Given the description of an element on the screen output the (x, y) to click on. 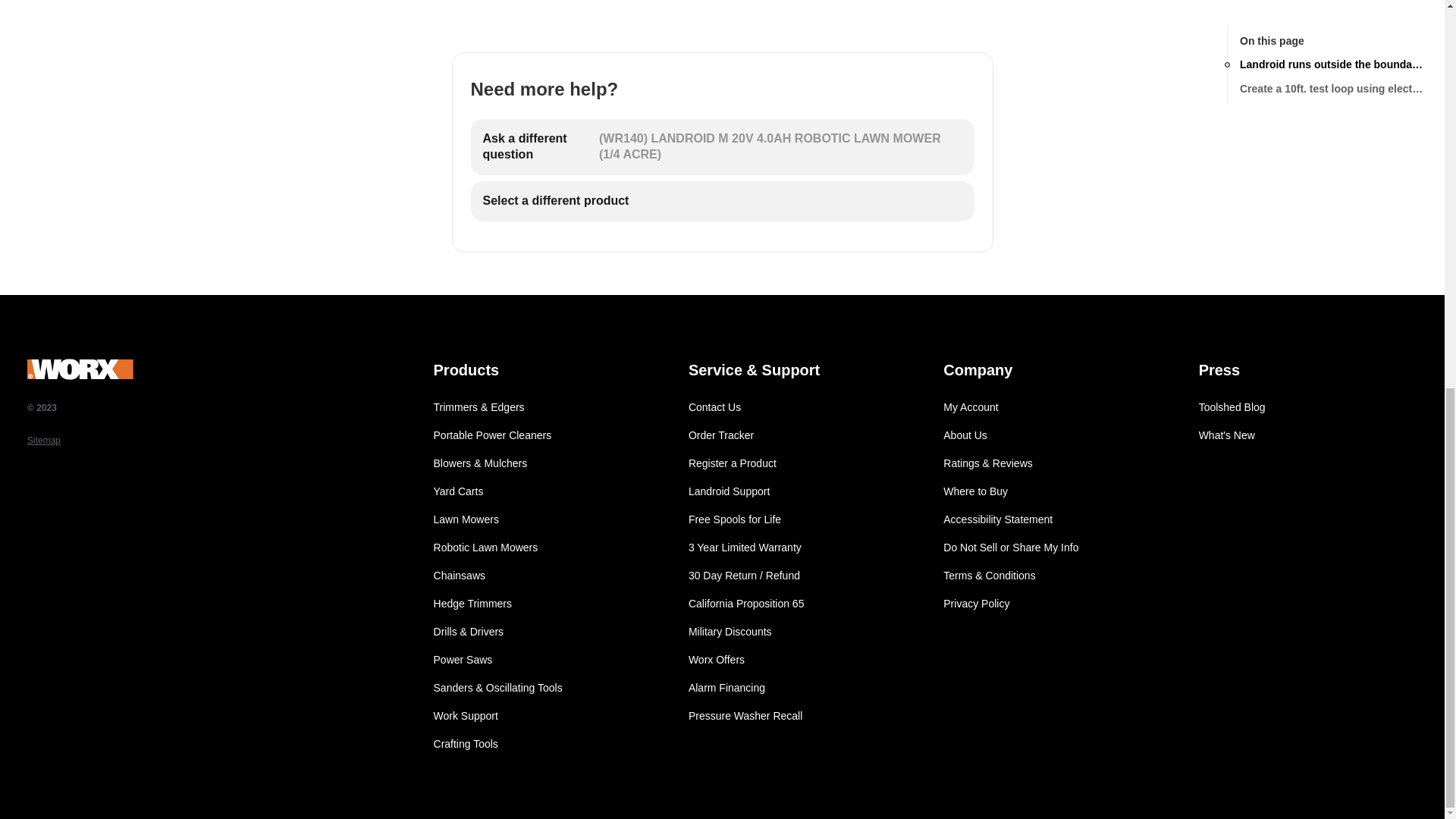
Chainsaws (543, 576)
Select a different product (722, 200)
Portable Power Cleaners (543, 435)
Lawn Mowers (543, 519)
Sitemap (206, 440)
Yard Carts (543, 491)
Robotic Lawn Mowers (543, 547)
